Given the description of an element on the screen output the (x, y) to click on. 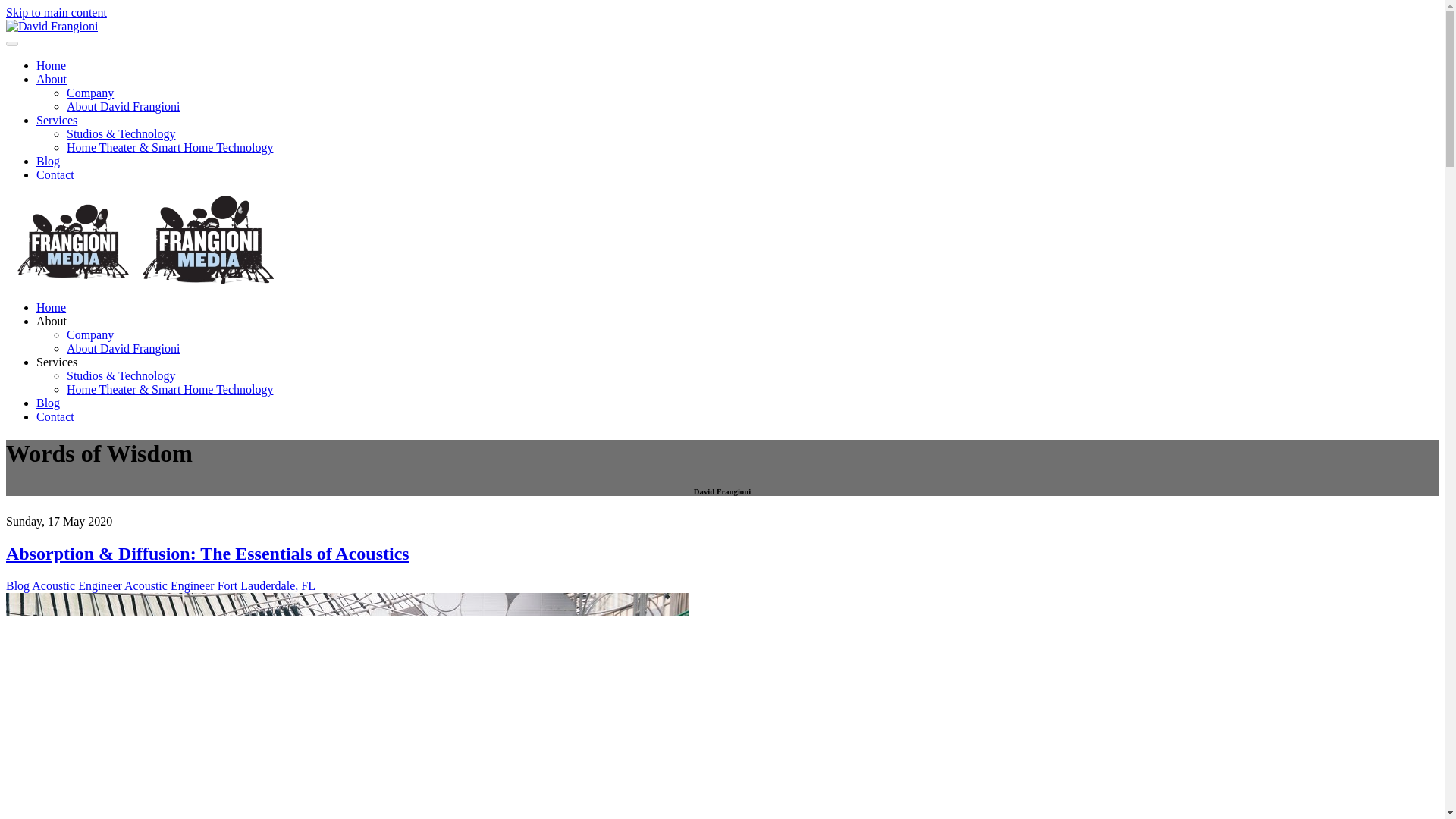
Contact (55, 174)
Blog (47, 402)
Home (50, 65)
Home (50, 307)
Contact (55, 416)
About (51, 78)
About David Frangioni (122, 348)
Acoustic Engineer Fort Lauderdale, FL (219, 585)
Services (56, 119)
Acoustic Engineer (77, 585)
